Given the description of an element on the screen output the (x, y) to click on. 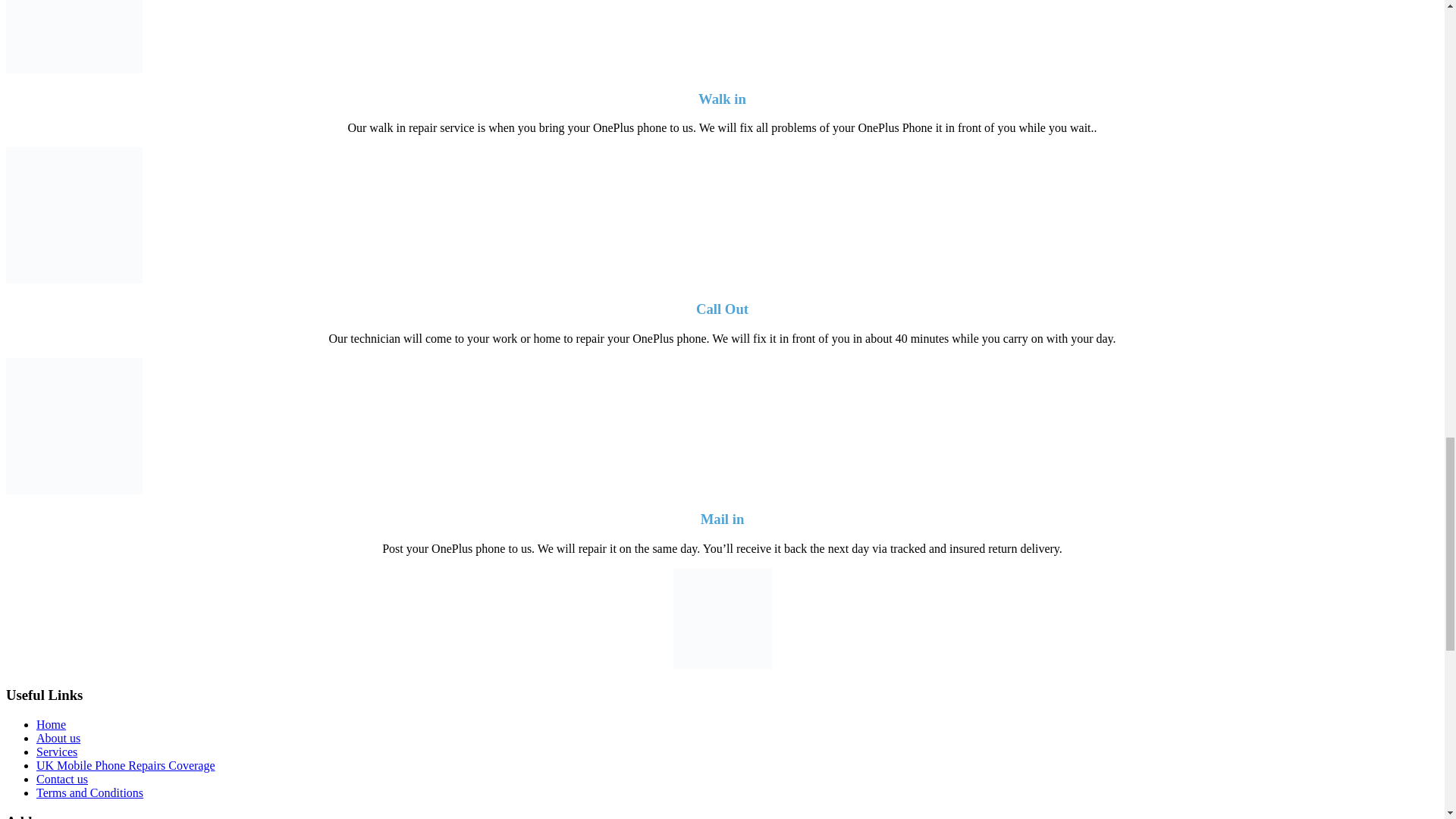
apple-ipad-repair-centre-coventry (73, 36)
apple-ipad-repair-centre-coventry (73, 425)
iPhone-repairs-coventry (73, 215)
